Given the description of an element on the screen output the (x, y) to click on. 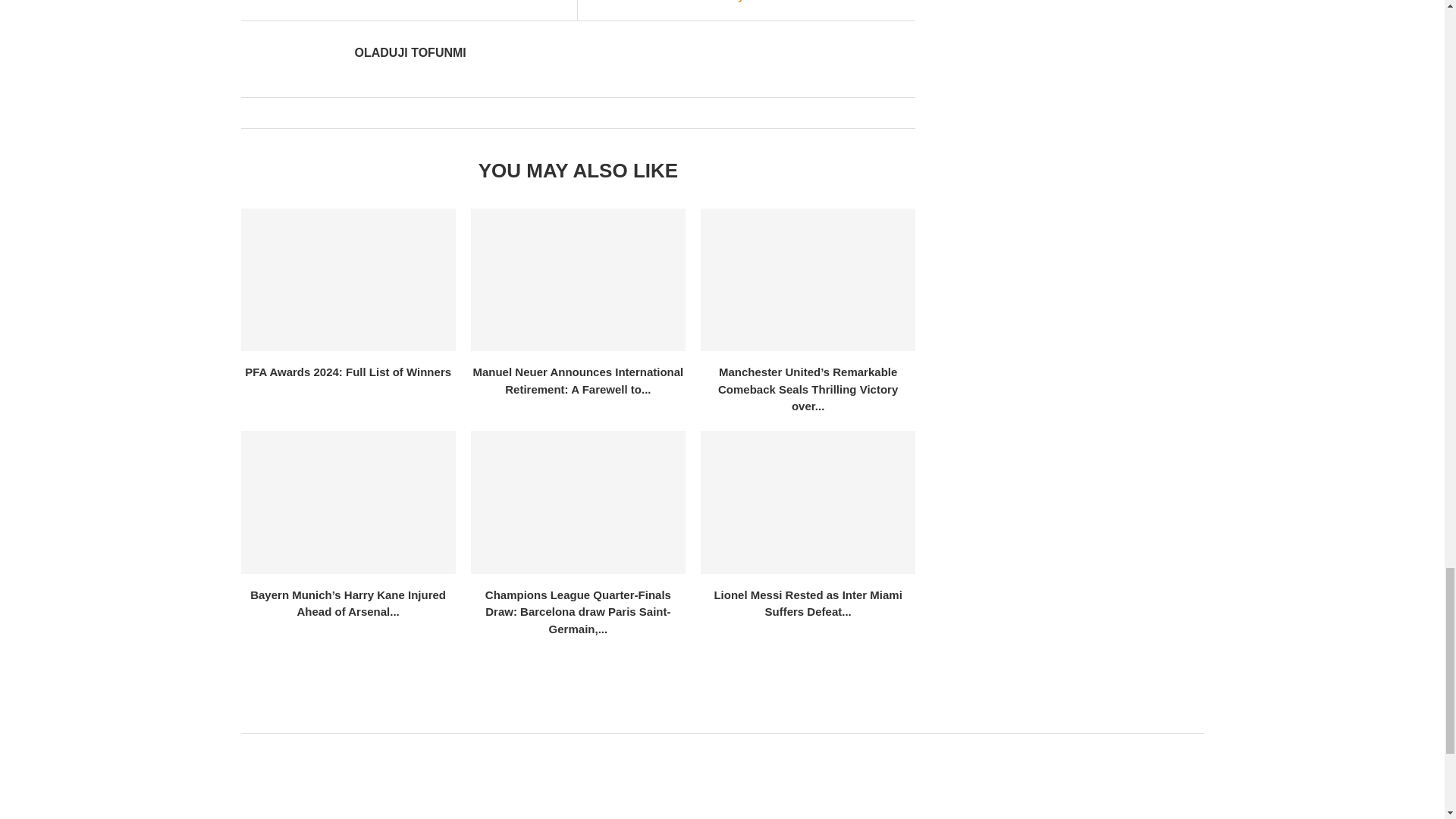
Author Oladuji Tofunmi (410, 53)
PFA Awards 2024: Full List of Winners (348, 280)
